Given the description of an element on the screen output the (x, y) to click on. 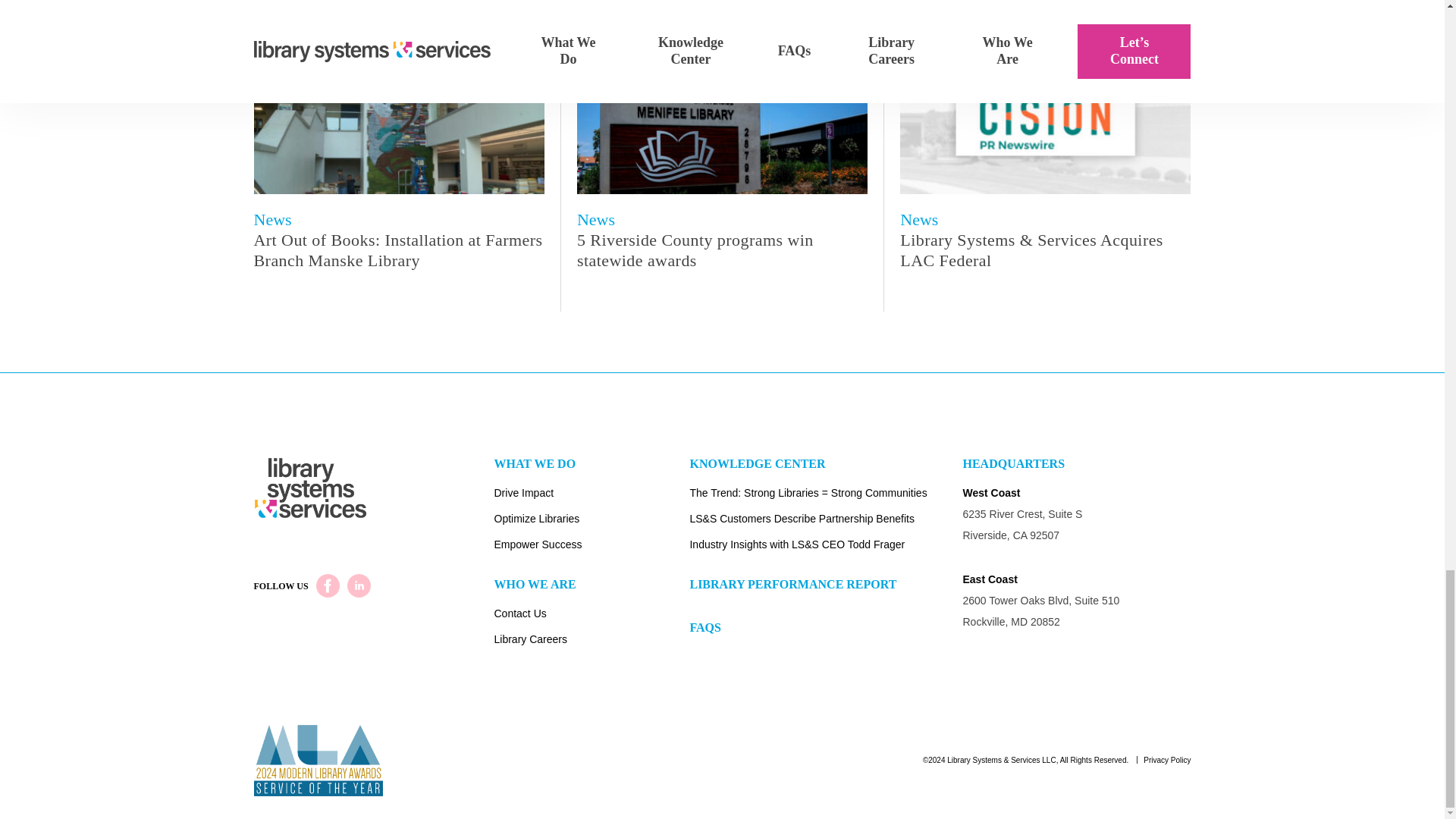
Drive Impact (592, 494)
Optimize Libraries (592, 520)
Contact Us (592, 615)
5 Riverside County programs win statewide awards (721, 250)
BACK TO THE KNOWLEDGE CENTER (722, 8)
WHAT WE DO (592, 469)
Empower Success (592, 546)
Library Careers (592, 641)
WHO WE ARE (592, 589)
